Given the description of an element on the screen output the (x, y) to click on. 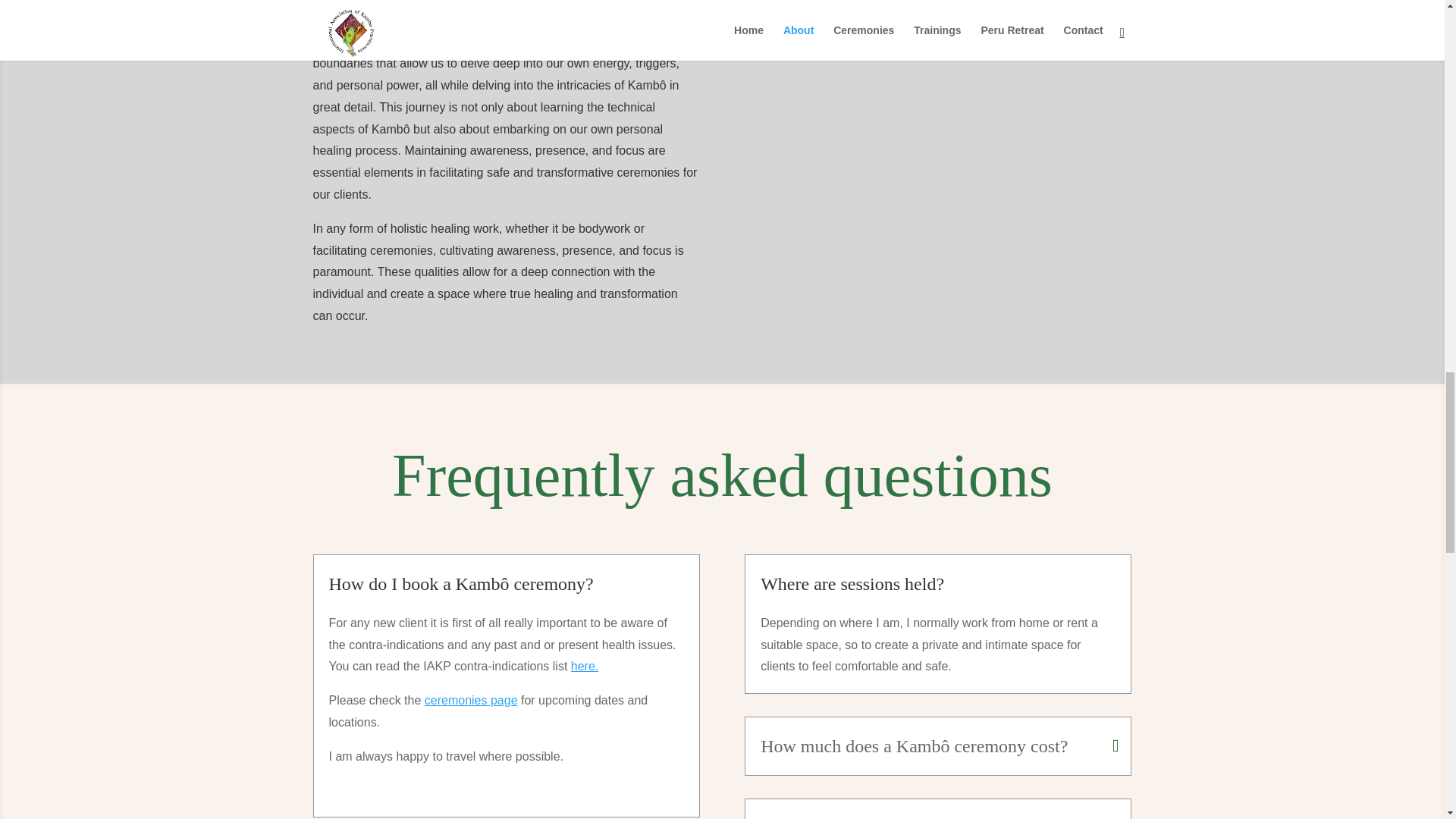
here. (584, 666)
Contra-indications (584, 666)
ceremonies page (471, 699)
